Given the description of an element on the screen output the (x, y) to click on. 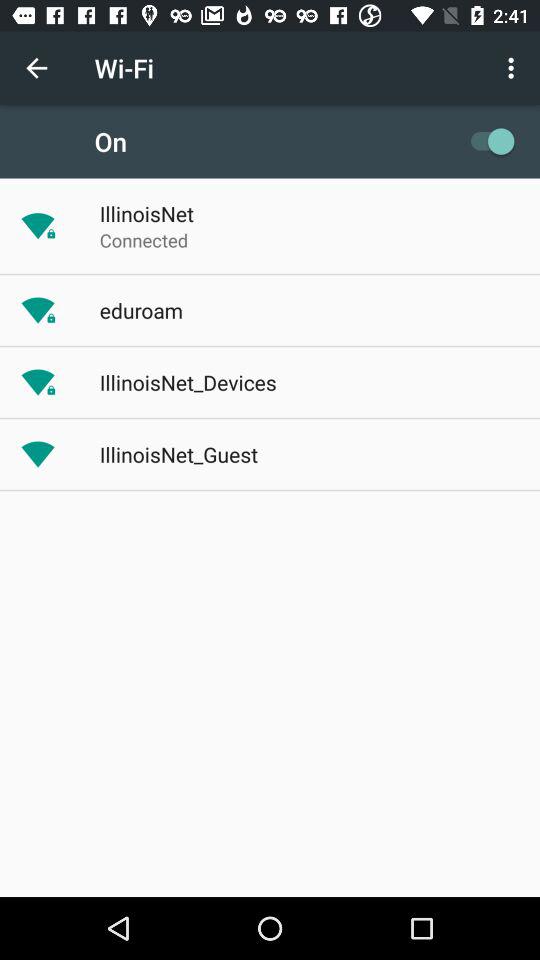
click item next to the on item (487, 141)
